Given the description of an element on the screen output the (x, y) to click on. 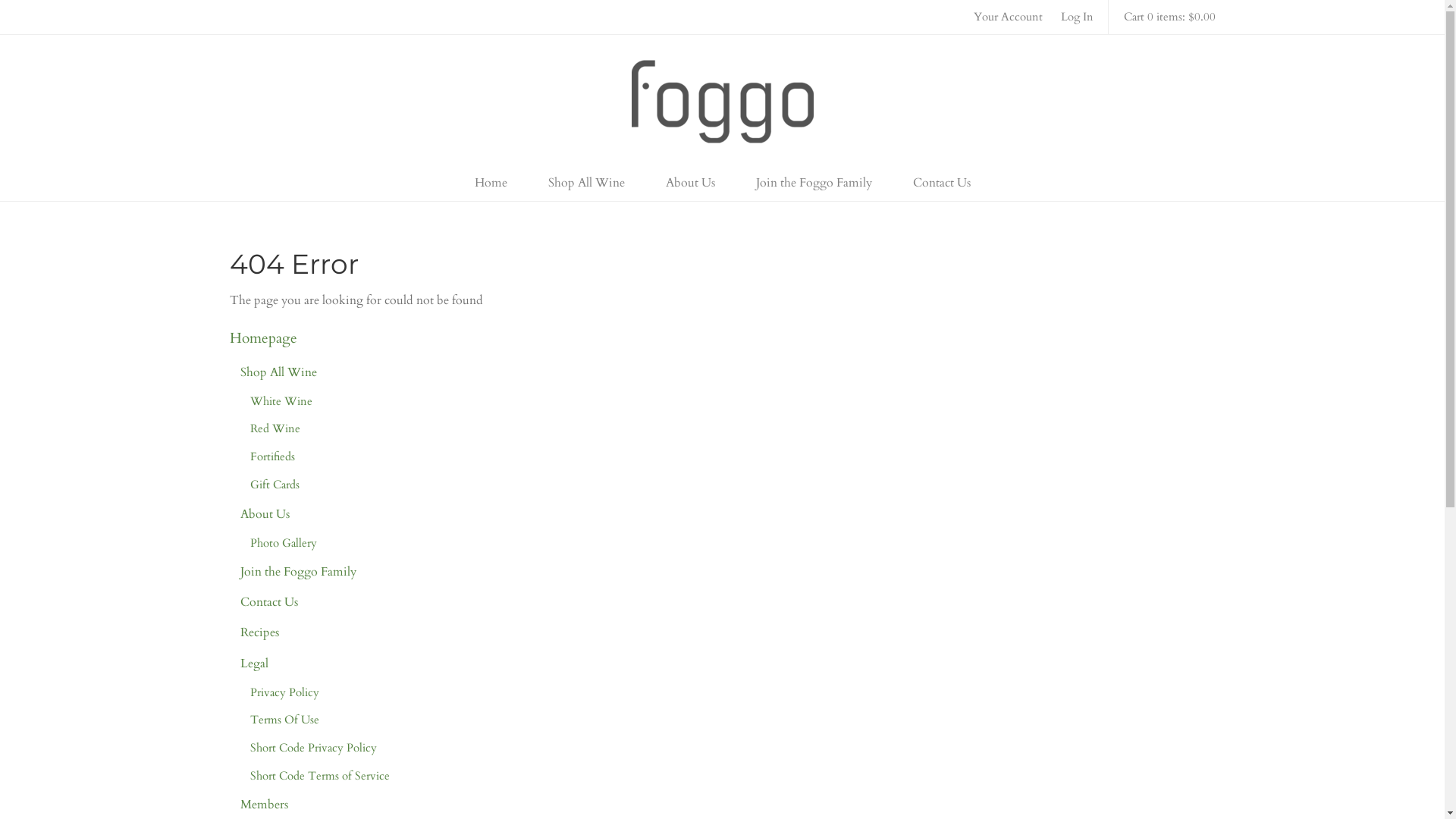
Contact Us Element type: text (269, 601)
Homepage Element type: text (262, 338)
Cart 0 items: $0.00 Element type: text (1169, 16)
Join the Foggo Family Element type: text (298, 571)
Photo Gallery Element type: text (283, 542)
Foggo Wines Home Element type: text (721, 101)
Home Element type: text (490, 182)
Members Element type: text (264, 804)
Fortifieds Element type: text (272, 456)
Log In Element type: text (1076, 16)
Shop All Wine Element type: text (278, 372)
Legal Element type: text (254, 663)
Short Code Privacy Policy Element type: text (313, 747)
Terms Of Use Element type: text (284, 719)
Contact Us Element type: text (940, 182)
Recipes Element type: text (259, 632)
About Us Element type: text (264, 513)
Join the Foggo Family Element type: text (813, 182)
Your Account Element type: text (1007, 16)
Privacy Policy Element type: text (284, 691)
Red Wine Element type: text (275, 428)
Short Code Terms of Service Element type: text (319, 775)
Shop All Wine Element type: text (586, 182)
Gift Cards Element type: text (274, 484)
White Wine Element type: text (281, 400)
About Us Element type: text (689, 182)
